Given the description of an element on the screen output the (x, y) to click on. 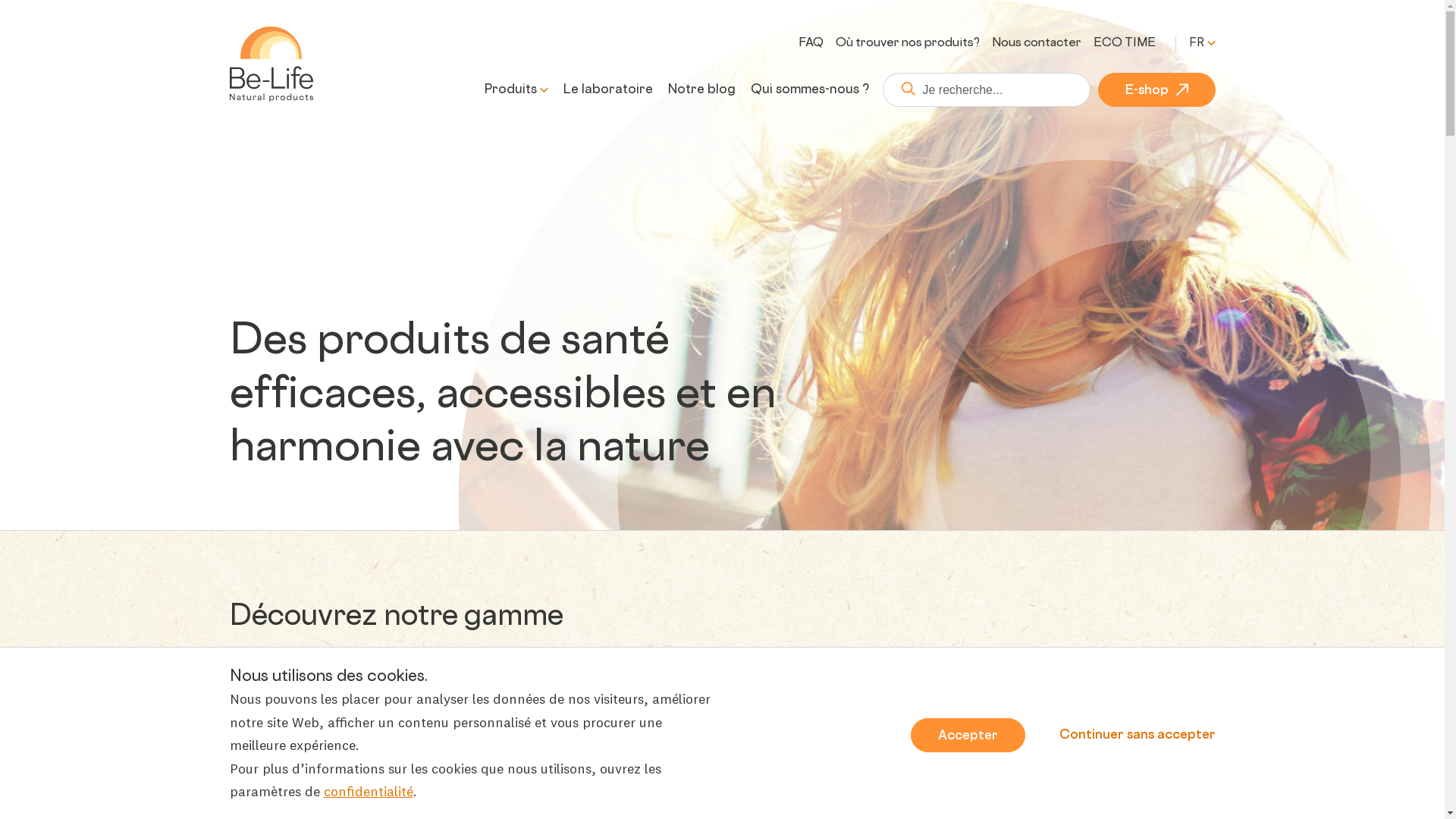
ECO TIME Element type: text (1124, 43)
Produits Element type: text (509, 90)
Accepter Element type: text (967, 735)
FAQ Element type: text (809, 43)
Continuer sans accepter Element type: text (1136, 734)
Notre blog Element type: text (700, 90)
E-shop Element type: text (1156, 89)
Qui sommes-nous ? Element type: text (809, 90)
Lancer la recherche Element type: text (901, 89)
Nous contacter Element type: text (1036, 43)
Le laboratoire Element type: text (607, 90)
Be-Life Element type: text (270, 64)
FR Element type: text (1202, 43)
